Given the description of an element on the screen output the (x, y) to click on. 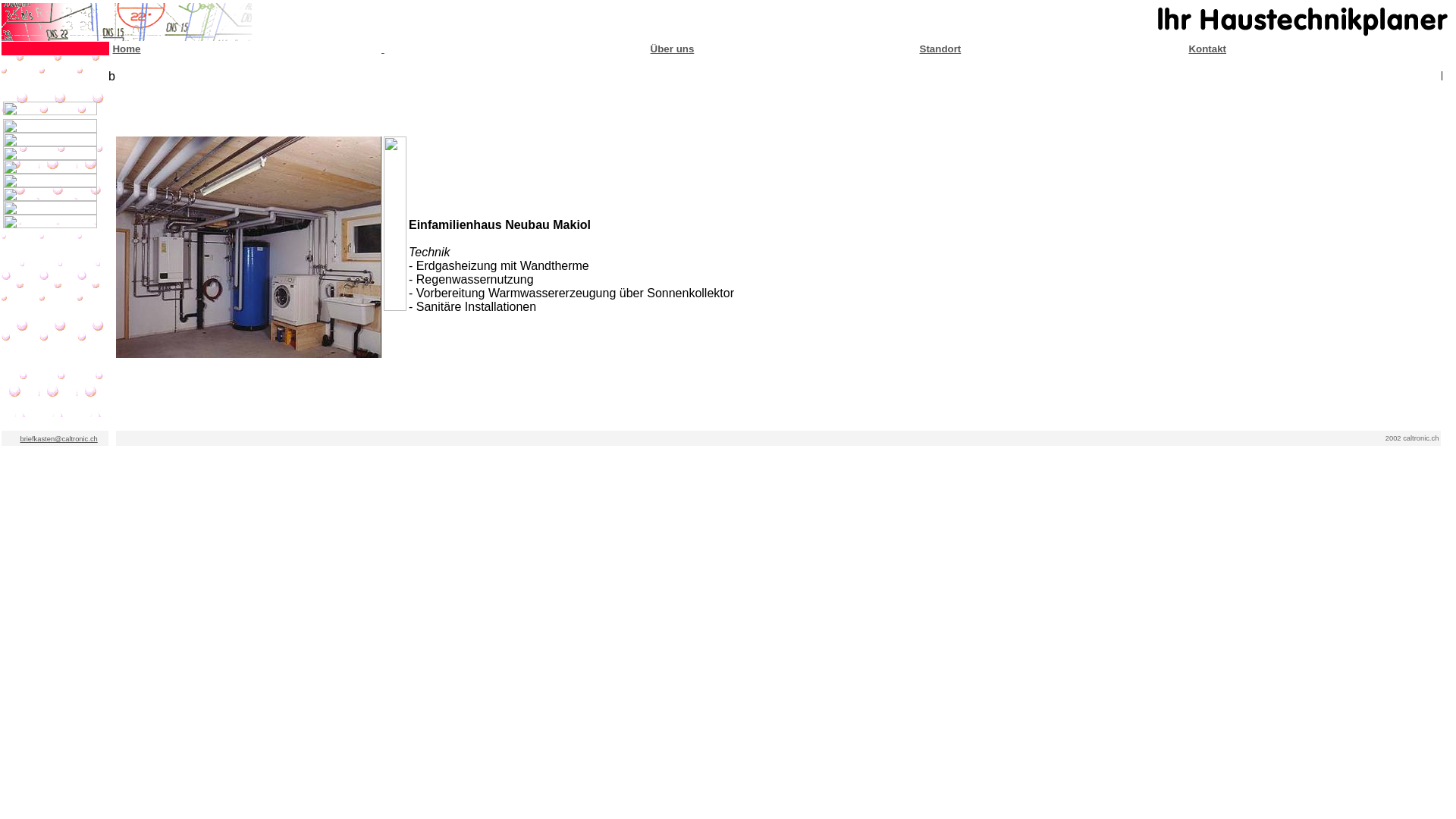
Home Element type: text (126, 47)
Standort Element type: text (940, 47)
briefkasten@caltronic.ch Element type: text (58, 438)
Kontakt Element type: text (1207, 47)
  Element type: text (382, 47)
